Given the description of an element on the screen output the (x, y) to click on. 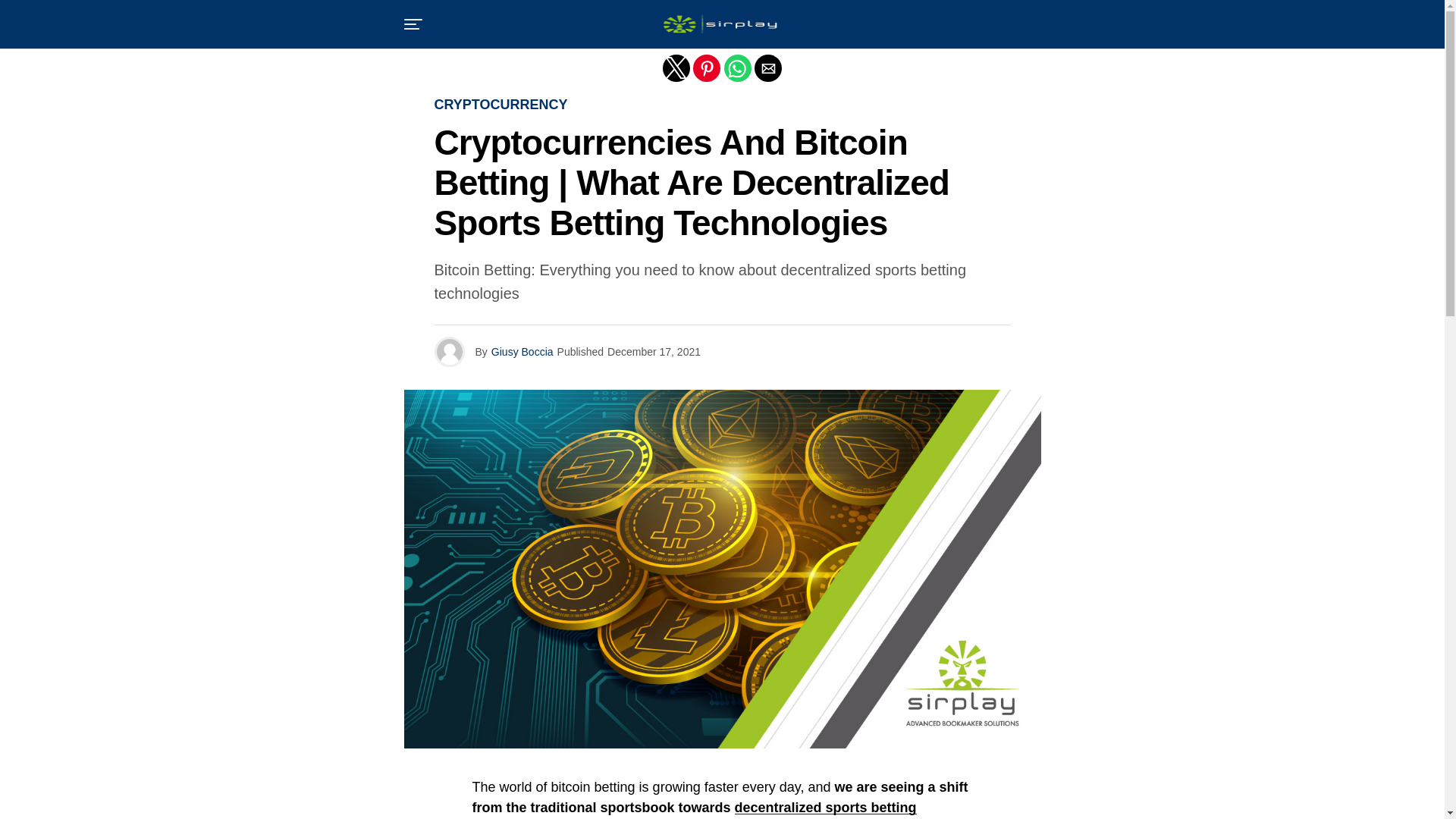
decentralized sports betting platforms (693, 809)
Posts by Giusy Boccia (522, 351)
Giusy Boccia (522, 351)
CRYPTOCURRENCY (500, 104)
